Given the description of an element on the screen output the (x, y) to click on. 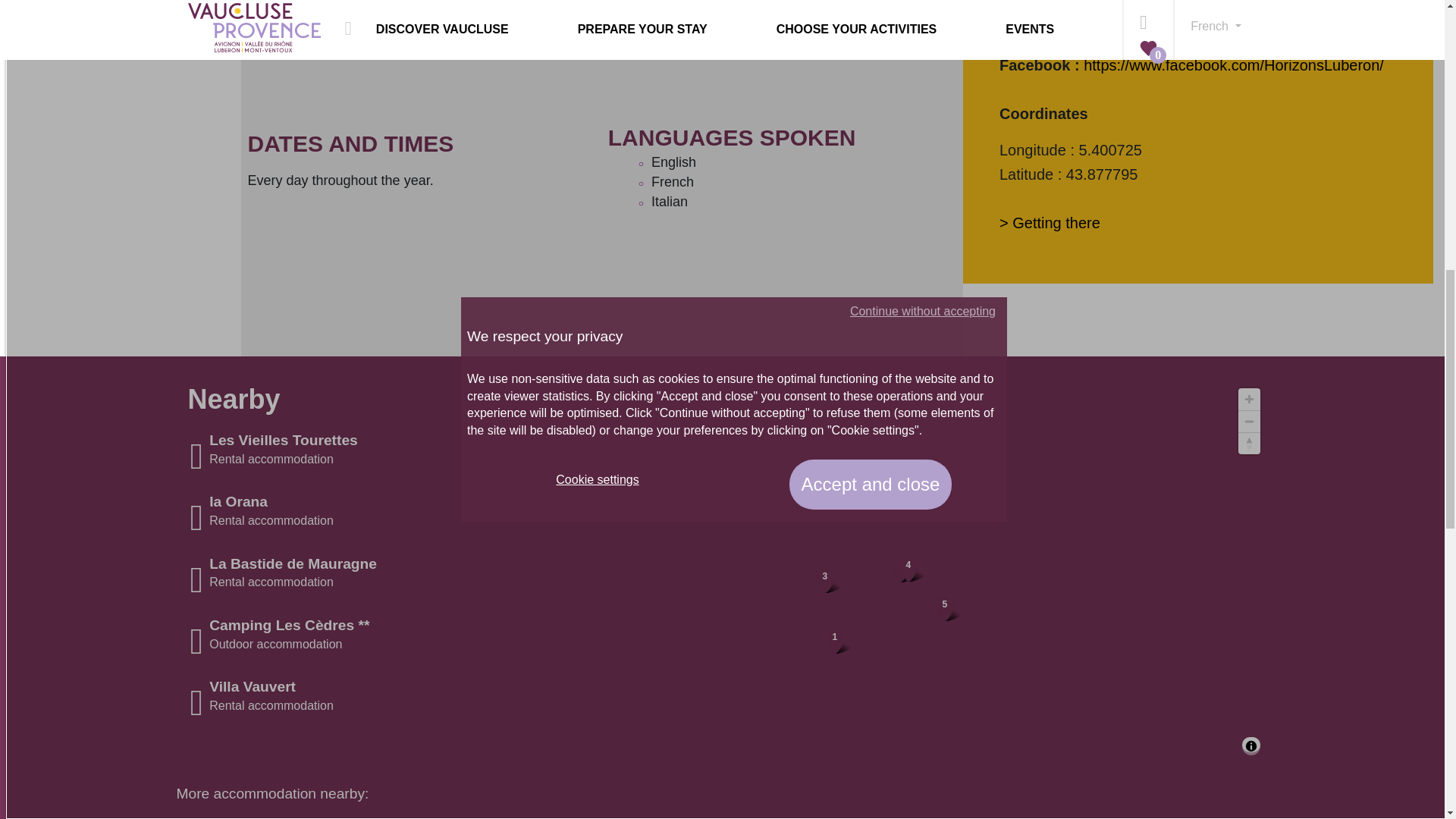
Vineyards and Discovery Accreditation (255, 3)
Zoom in (1249, 399)
Zoom out (1249, 421)
